Given the description of an element on the screen output the (x, y) to click on. 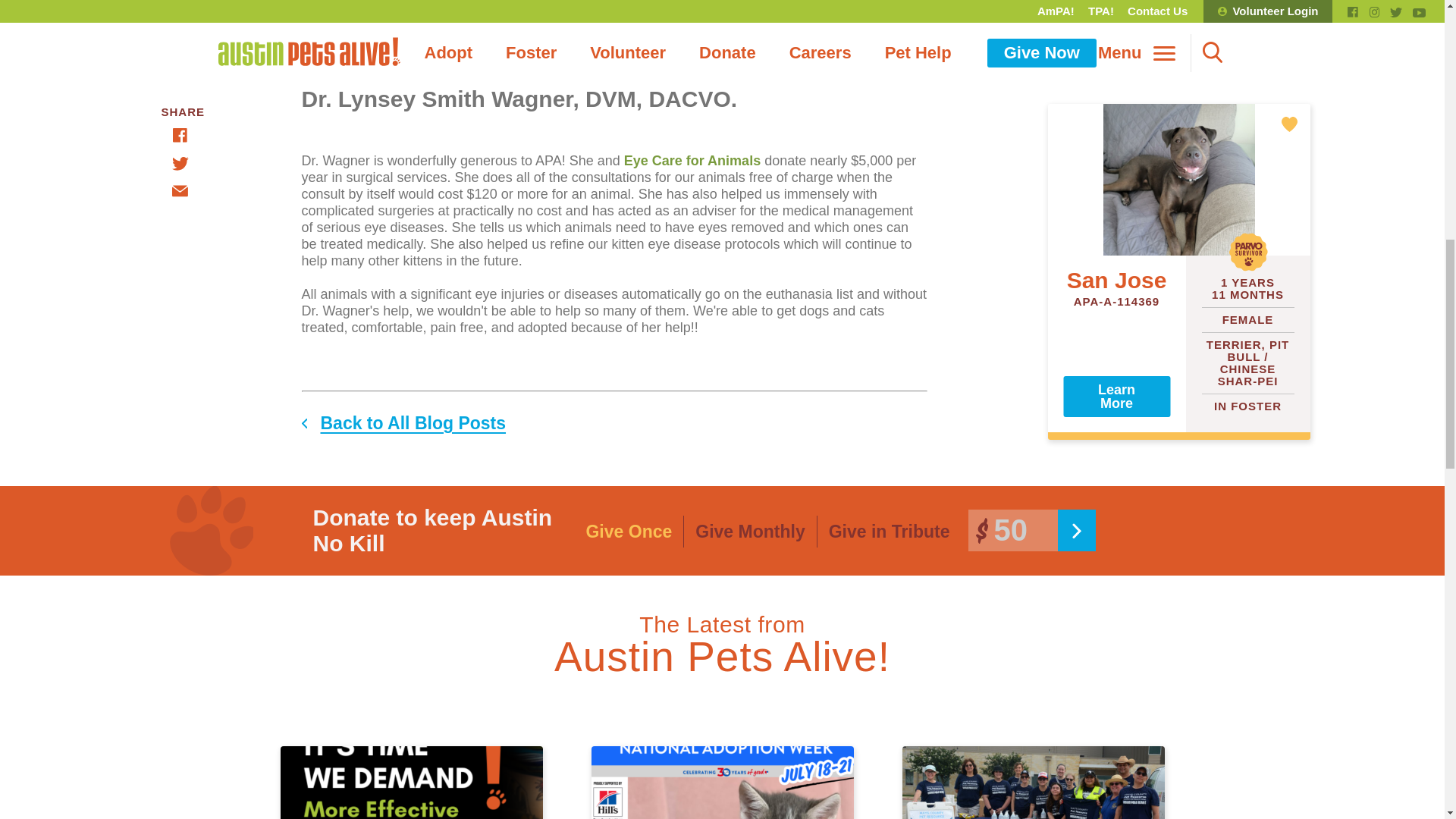
Eye Care for Animals (692, 160)
